Given the description of an element on the screen output the (x, y) to click on. 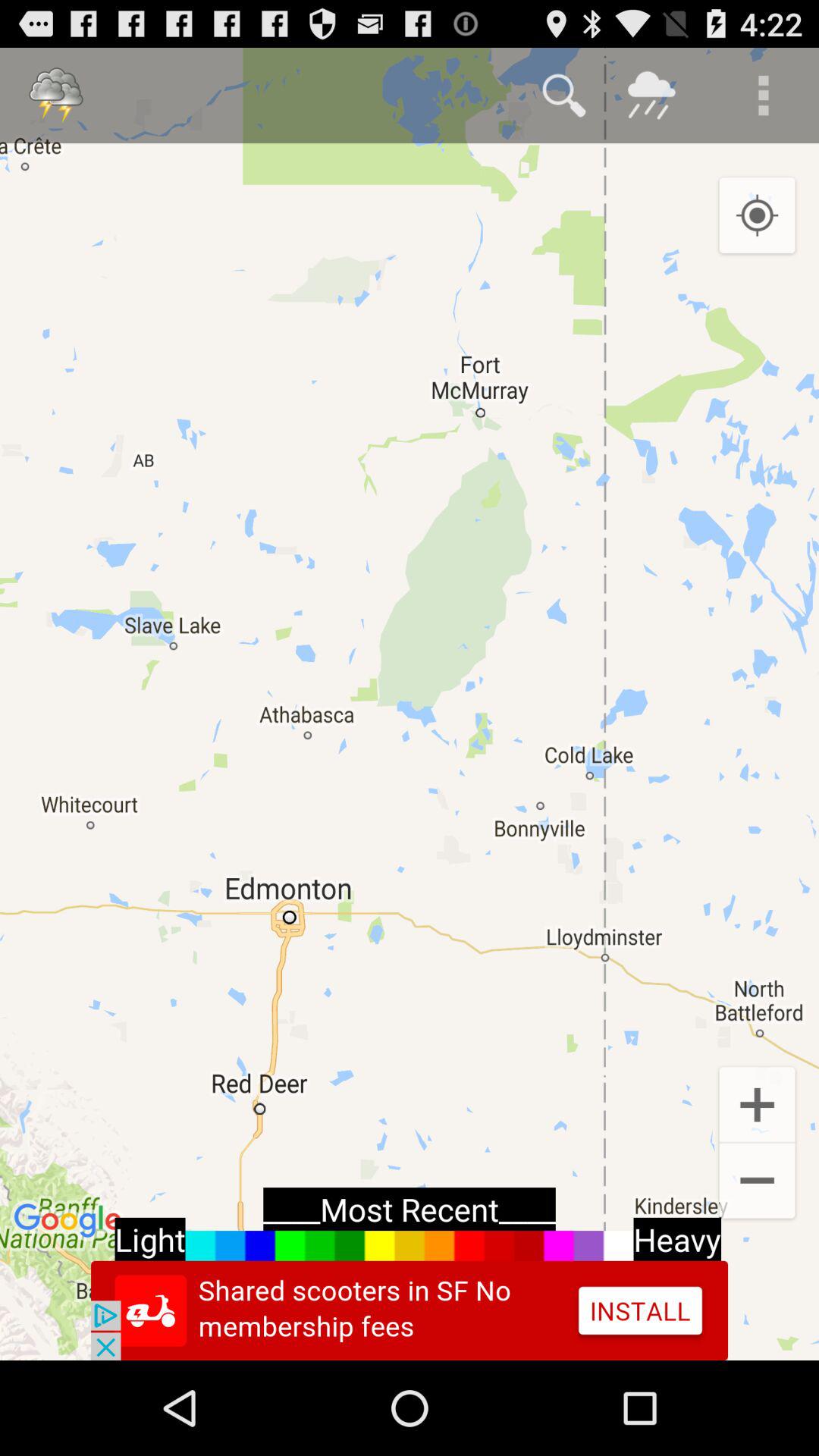
find option (564, 95)
